Given the description of an element on the screen output the (x, y) to click on. 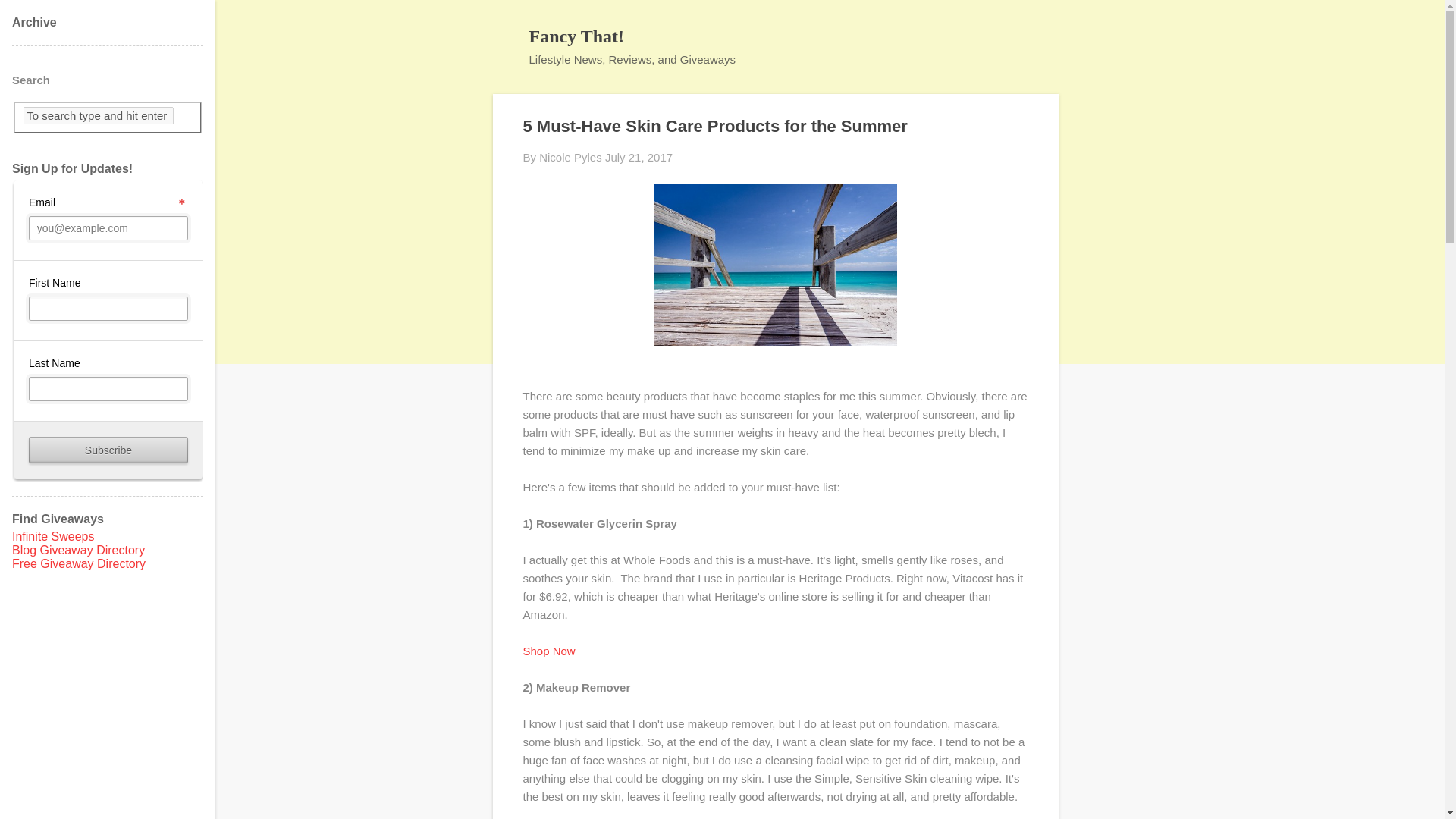
To search type and hit enter (98, 115)
permanent link (638, 156)
Fancy That! (576, 35)
Search (29, 18)
July 21, 2017 (638, 156)
Shop Now (548, 650)
